Given the description of an element on the screen output the (x, y) to click on. 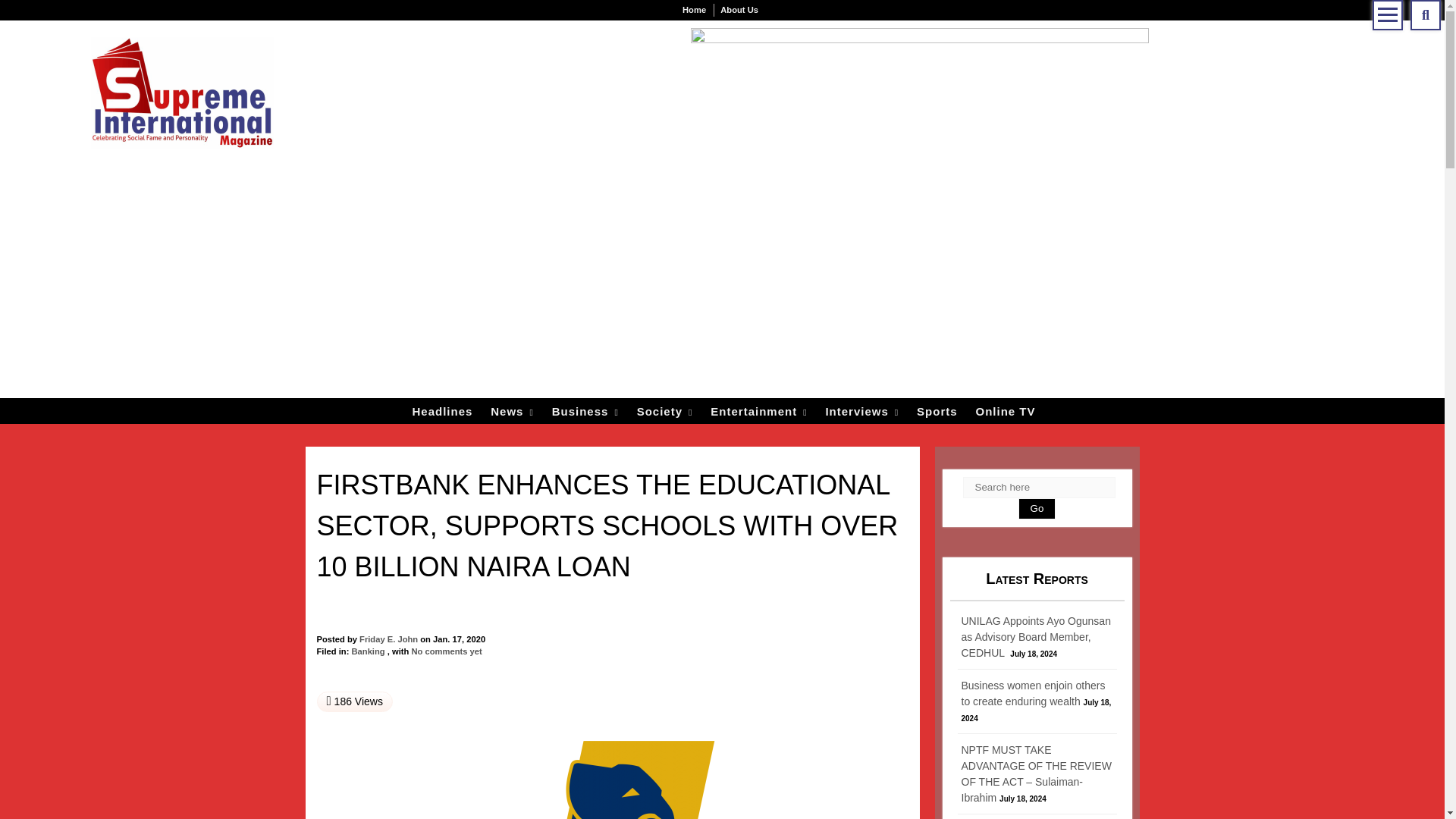
Headlines (442, 412)
News (512, 412)
Home (694, 10)
Business (585, 412)
More (1388, 15)
Search (1425, 15)
Go (1037, 508)
Society (664, 412)
Go (1083, 435)
About Us (738, 10)
